Given the description of an element on the screen output the (x, y) to click on. 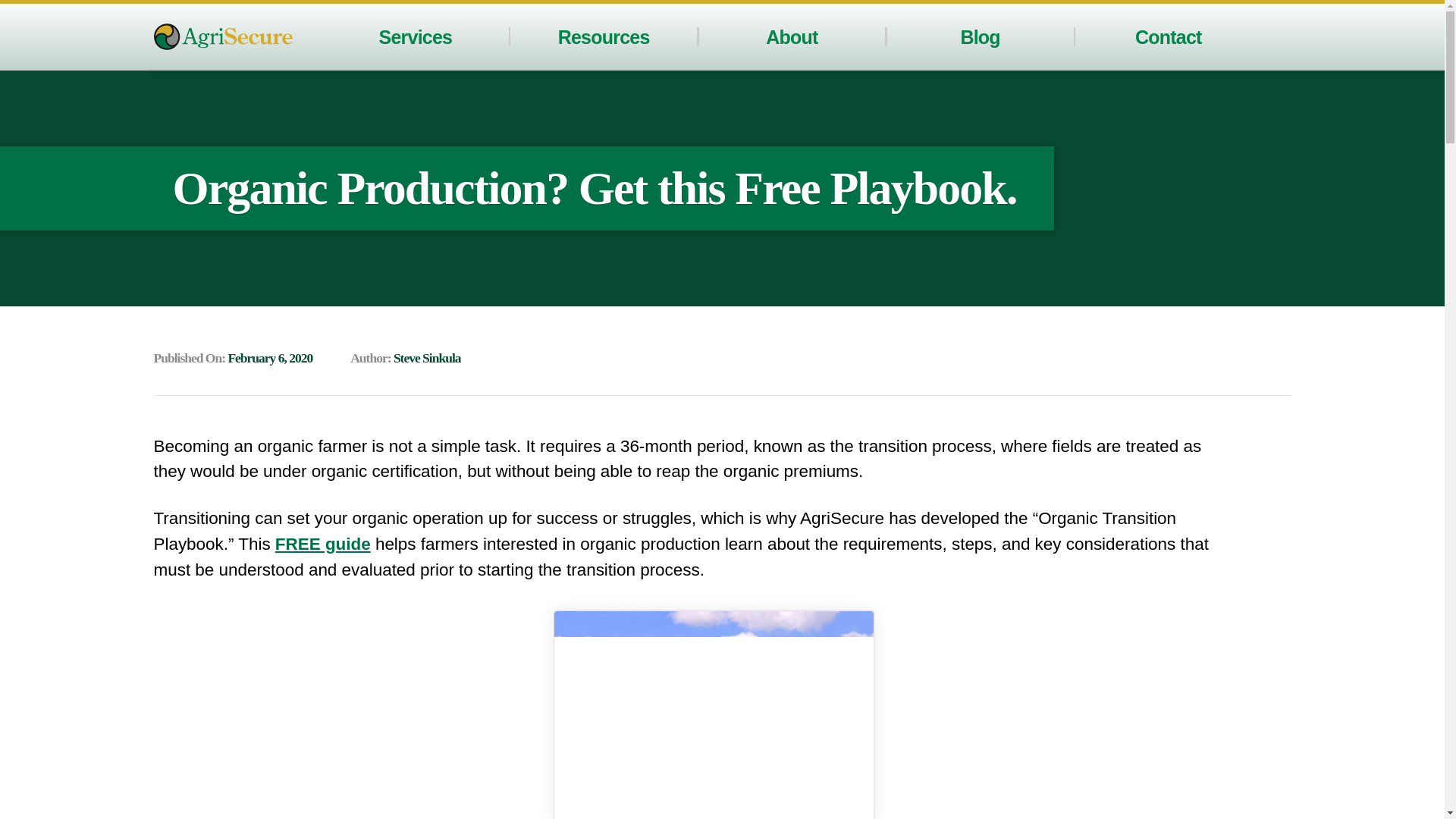
Contact (1168, 37)
About (790, 37)
Blog (978, 37)
FREE guide (323, 544)
Resources (603, 37)
Contact (1168, 37)
AgriSecure (222, 36)
About (790, 37)
Resources (603, 37)
Services (415, 37)
Services (415, 37)
Blog (978, 37)
